Given the description of an element on the screen output the (x, y) to click on. 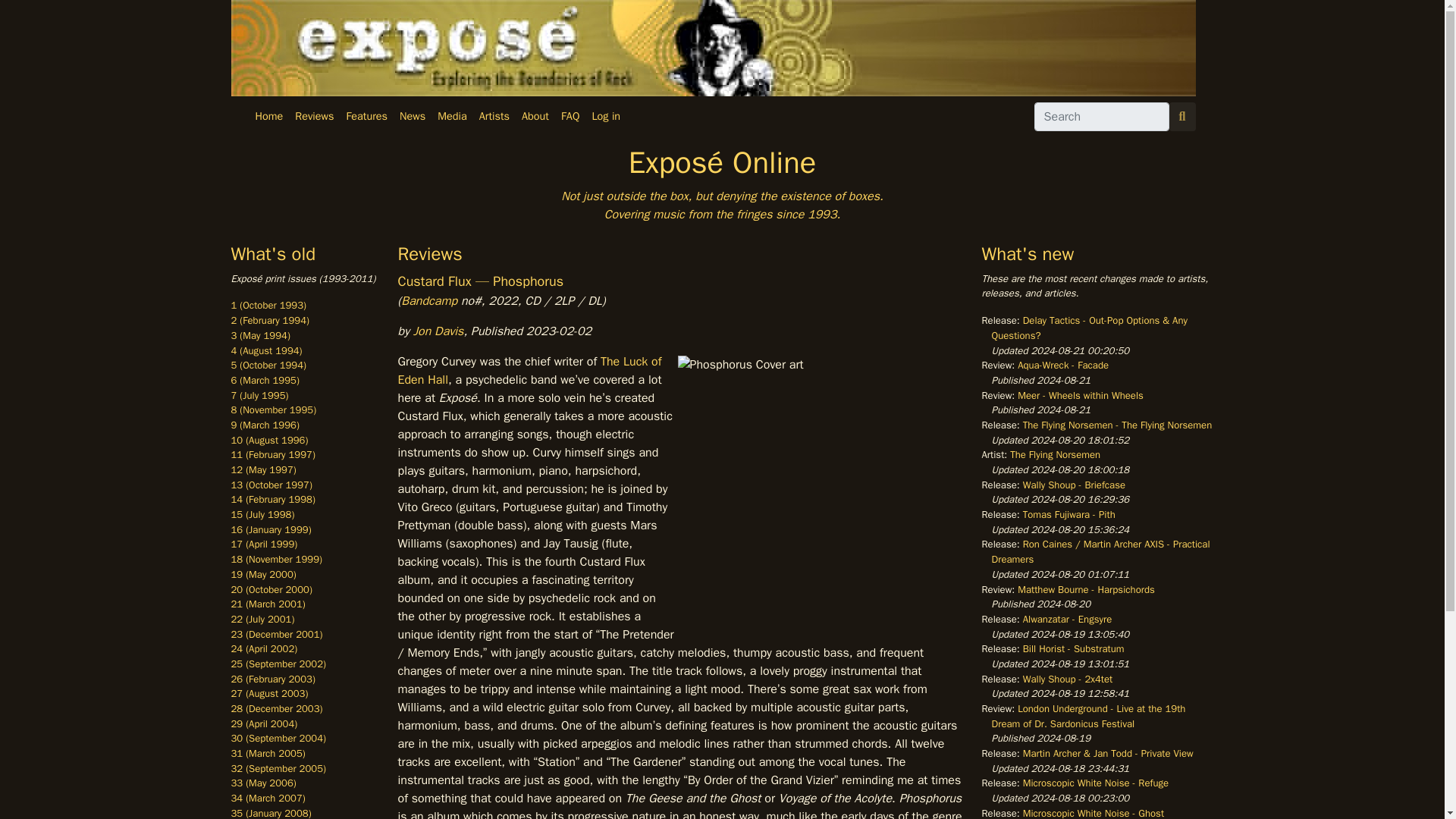
Features (366, 116)
Log in (605, 116)
About (534, 116)
Artists (494, 116)
Media (451, 116)
News (411, 116)
FAQ (569, 116)
Reviews (313, 116)
Phosphorus Cover art (819, 496)
Home (268, 116)
